Given the description of an element on the screen output the (x, y) to click on. 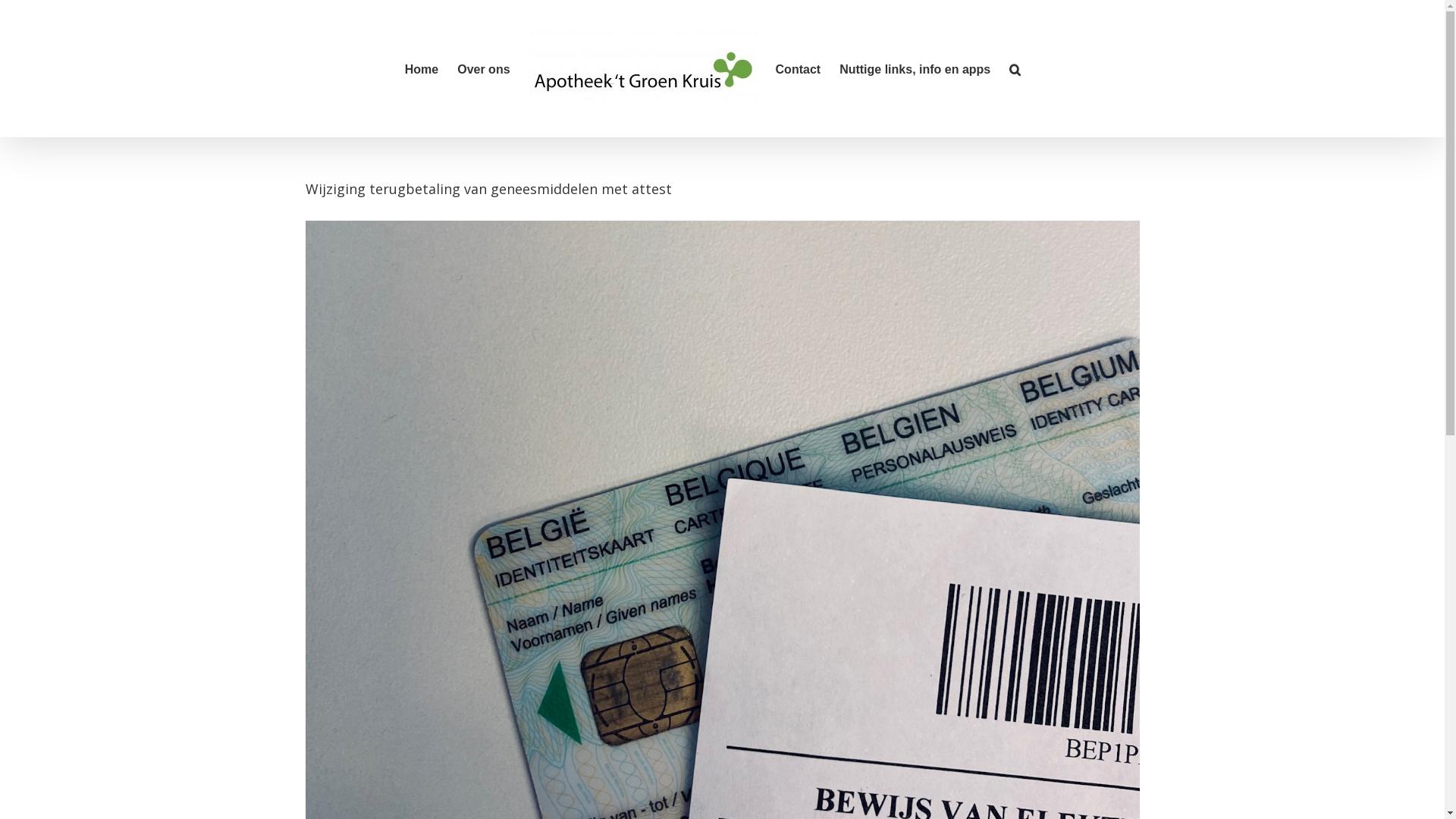
Contact Element type: text (798, 68)
Over ons Element type: text (483, 68)
Nuttige links, info en apps Element type: text (914, 68)
Home Element type: text (421, 68)
Zoeken Element type: hover (1014, 68)
